Given the description of an element on the screen output the (x, y) to click on. 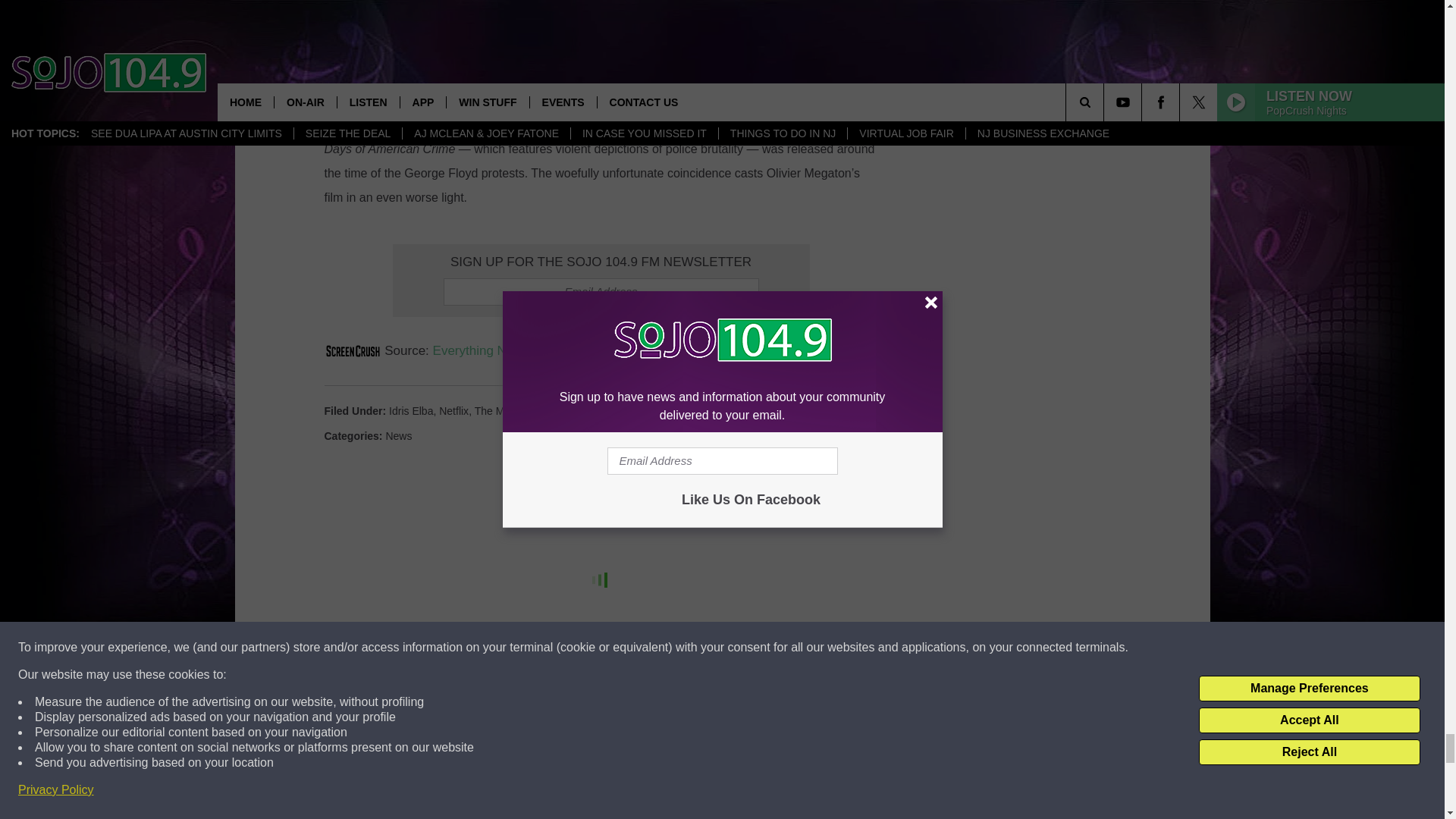
Email Address (600, 291)
